Given the description of an element on the screen output the (x, y) to click on. 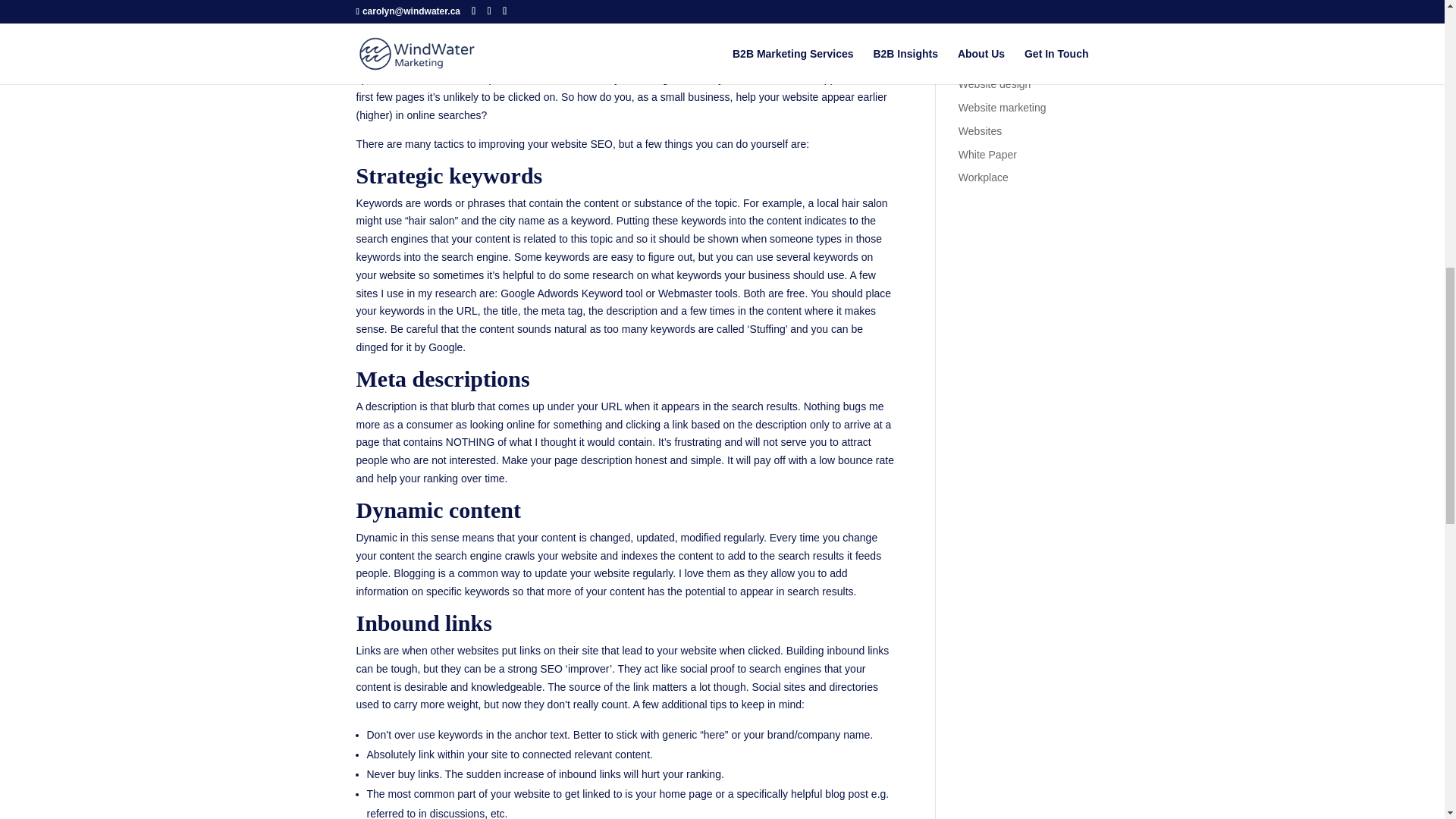
Social Media (988, 14)
